Given the description of an element on the screen output the (x, y) to click on. 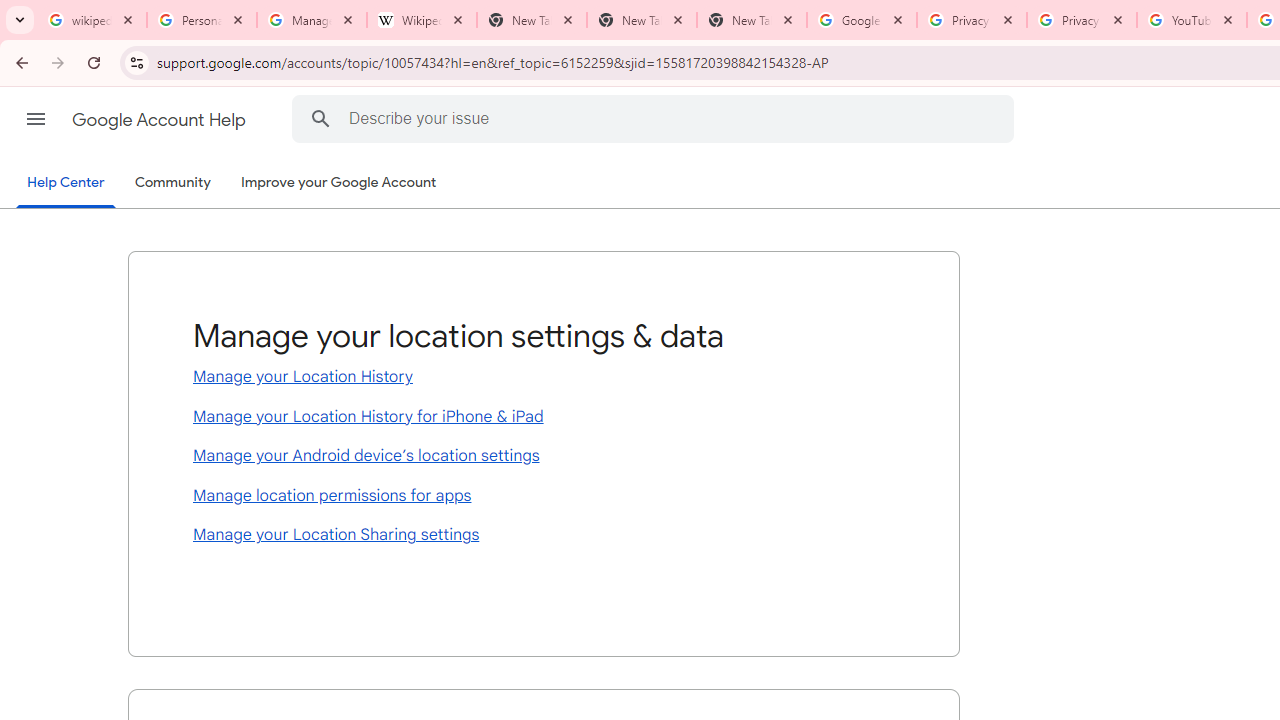
Search Help Center (320, 118)
Main menu (35, 119)
Manage your Location History (543, 377)
New Tab (642, 20)
Personalization & Google Search results - Google Search Help (202, 20)
Google Drive: Sign-in (861, 20)
Help Center (65, 183)
Manage your Location Sharing settings (543, 536)
Manage your Location History - Google Search Help (312, 20)
Community (171, 183)
